Given the description of an element on the screen output the (x, y) to click on. 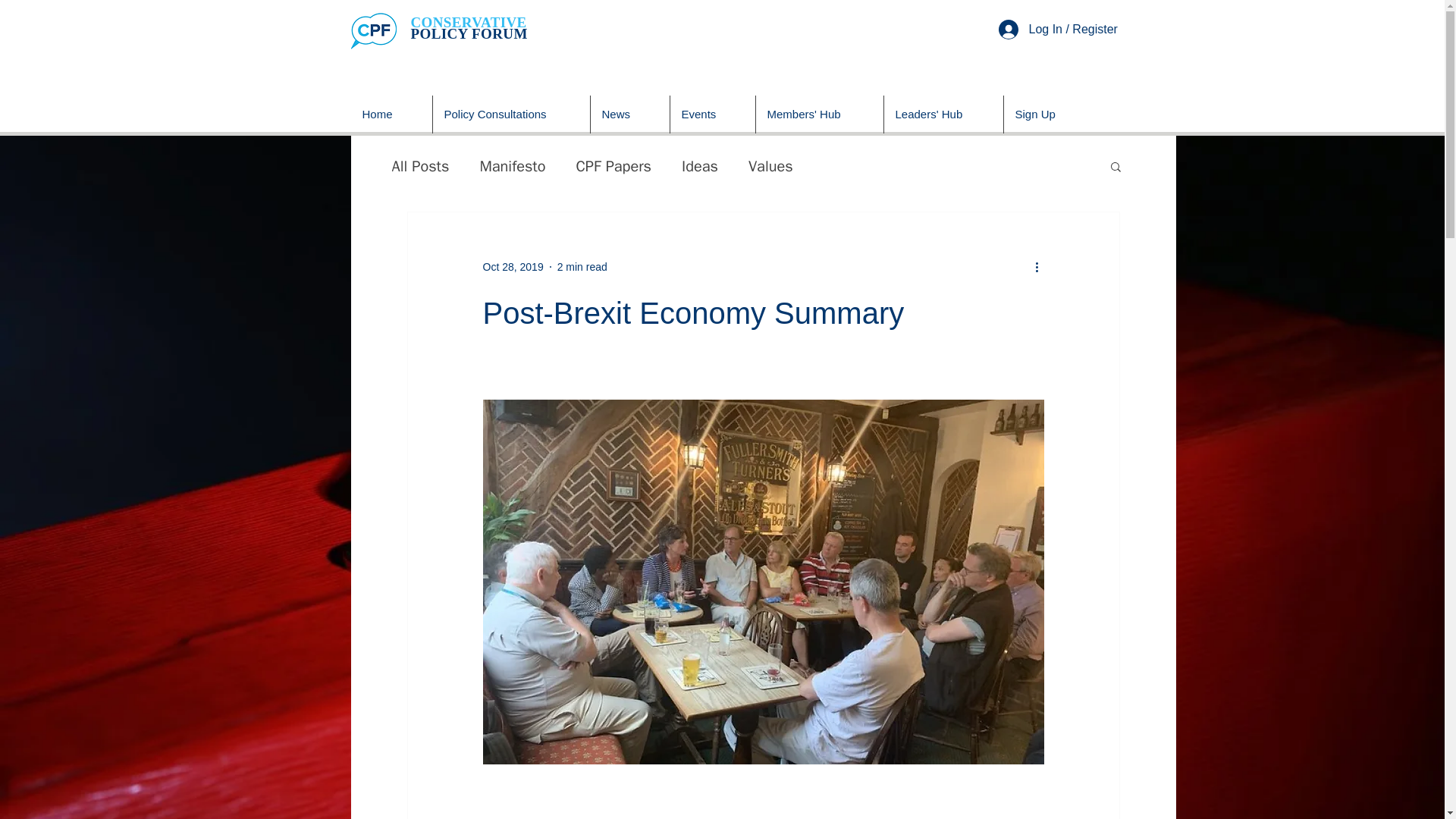
CPF Papers (612, 166)
Ideas (699, 166)
2 min read (582, 266)
Values (770, 166)
Home (390, 114)
Leaders' Hub (943, 114)
All Posts (419, 166)
Manifesto (511, 166)
Events (712, 114)
Sign Up (1049, 114)
